Given the description of an element on the screen output the (x, y) to click on. 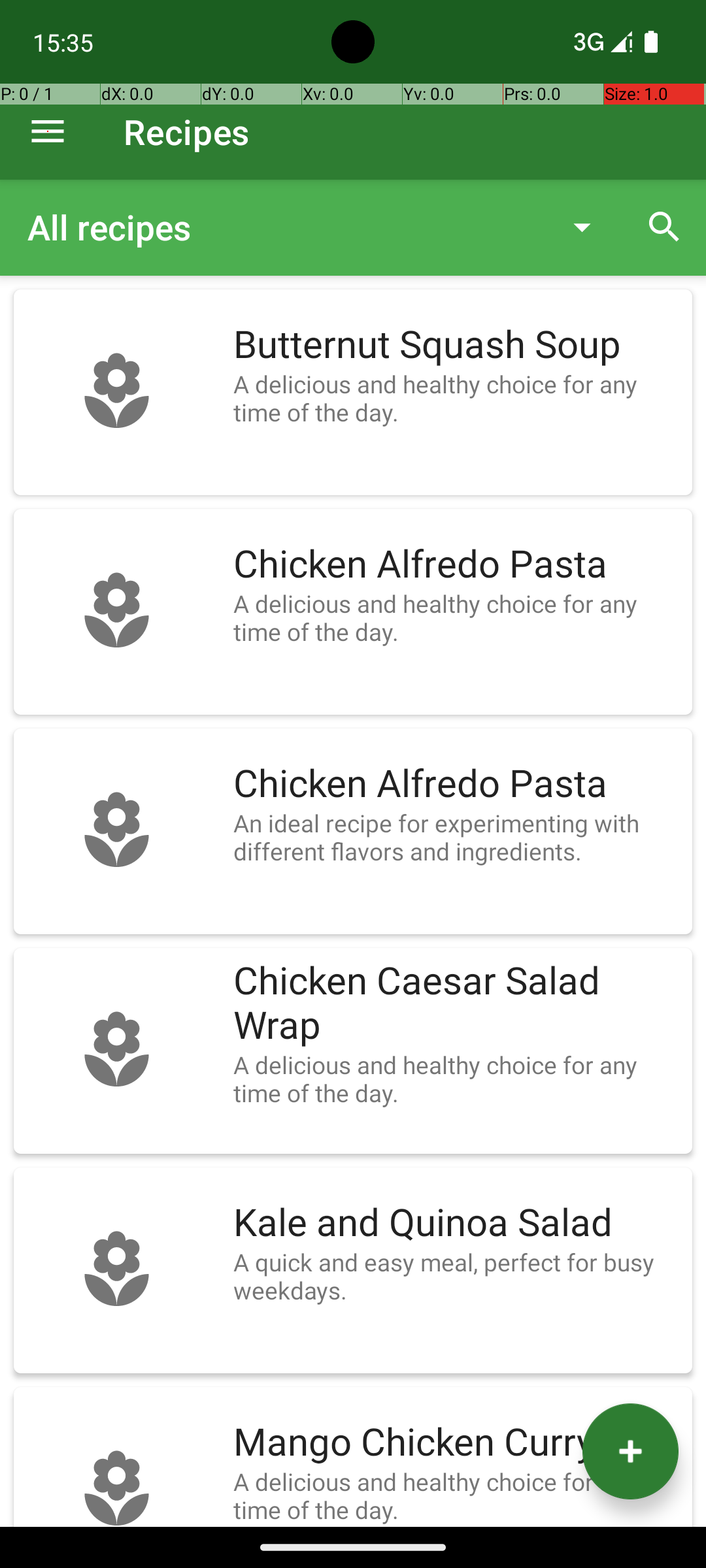
All recipes Element type: android.widget.TextView (283, 226)
Butternut Squash Soup Element type: android.widget.TextView (455, 344)
Chicken Alfredo Pasta Element type: android.widget.TextView (455, 564)
An ideal recipe for experimenting with different flavors and ingredients. Element type: android.widget.TextView (455, 836)
Chicken Caesar Salad Wrap Element type: android.widget.TextView (455, 1003)
Kale and Quinoa Salad Element type: android.widget.TextView (455, 1222)
A quick and easy meal, perfect for busy weekdays. Element type: android.widget.TextView (455, 1275)
Mango Chicken Curry Element type: android.widget.TextView (455, 1442)
